Given the description of an element on the screen output the (x, y) to click on. 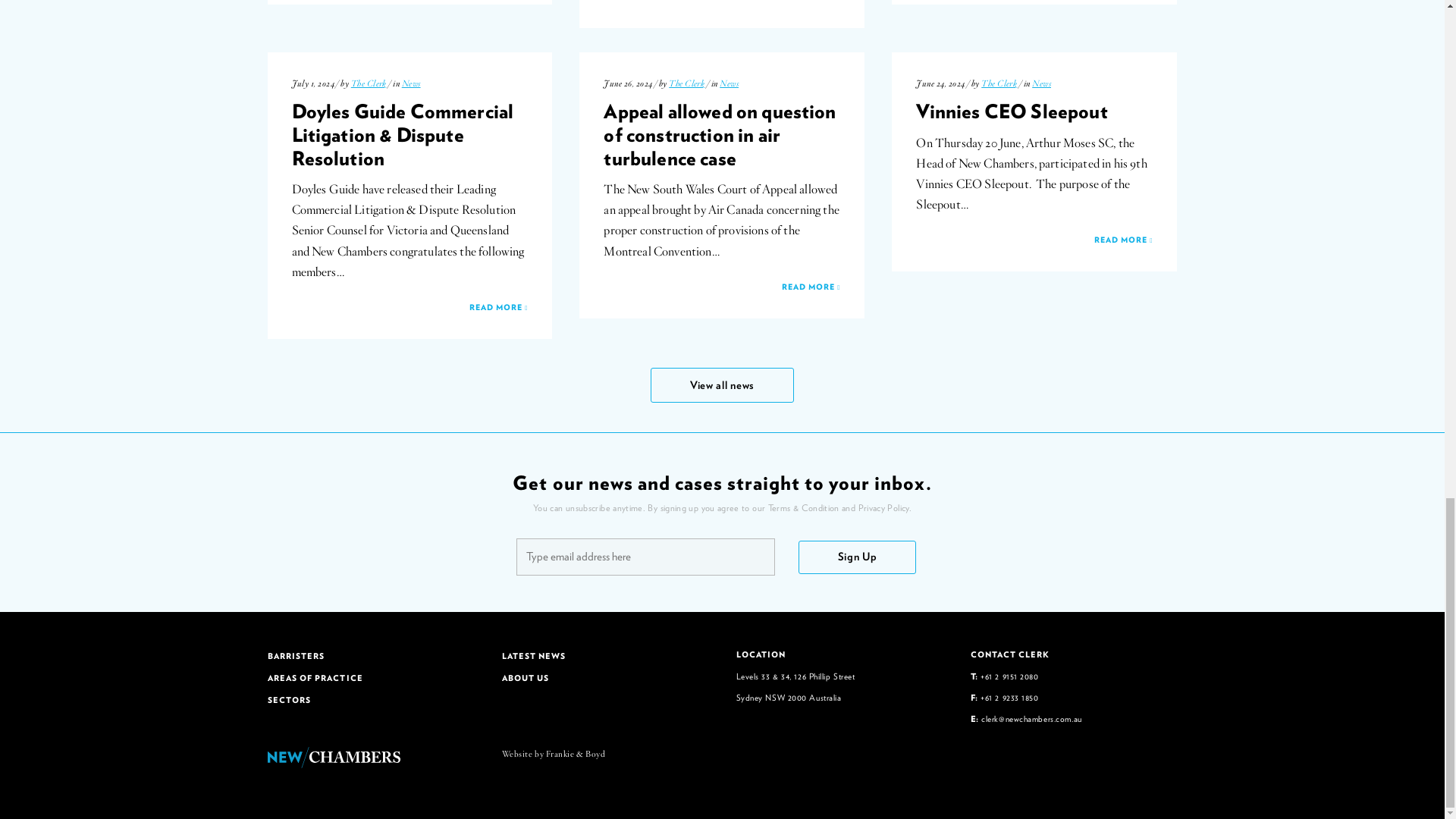
News (410, 82)
The Clerk (368, 82)
READ MORE (722, 2)
Sign Up (856, 557)
READ MORE (409, 307)
